Given the description of an element on the screen output the (x, y) to click on. 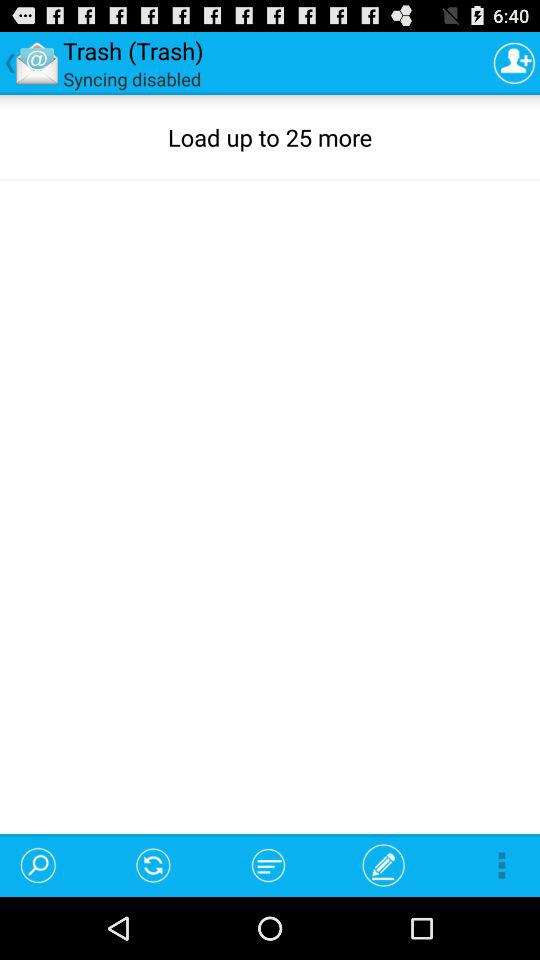
open the item below the syncing disabled icon (48, 864)
